Given the description of an element on the screen output the (x, y) to click on. 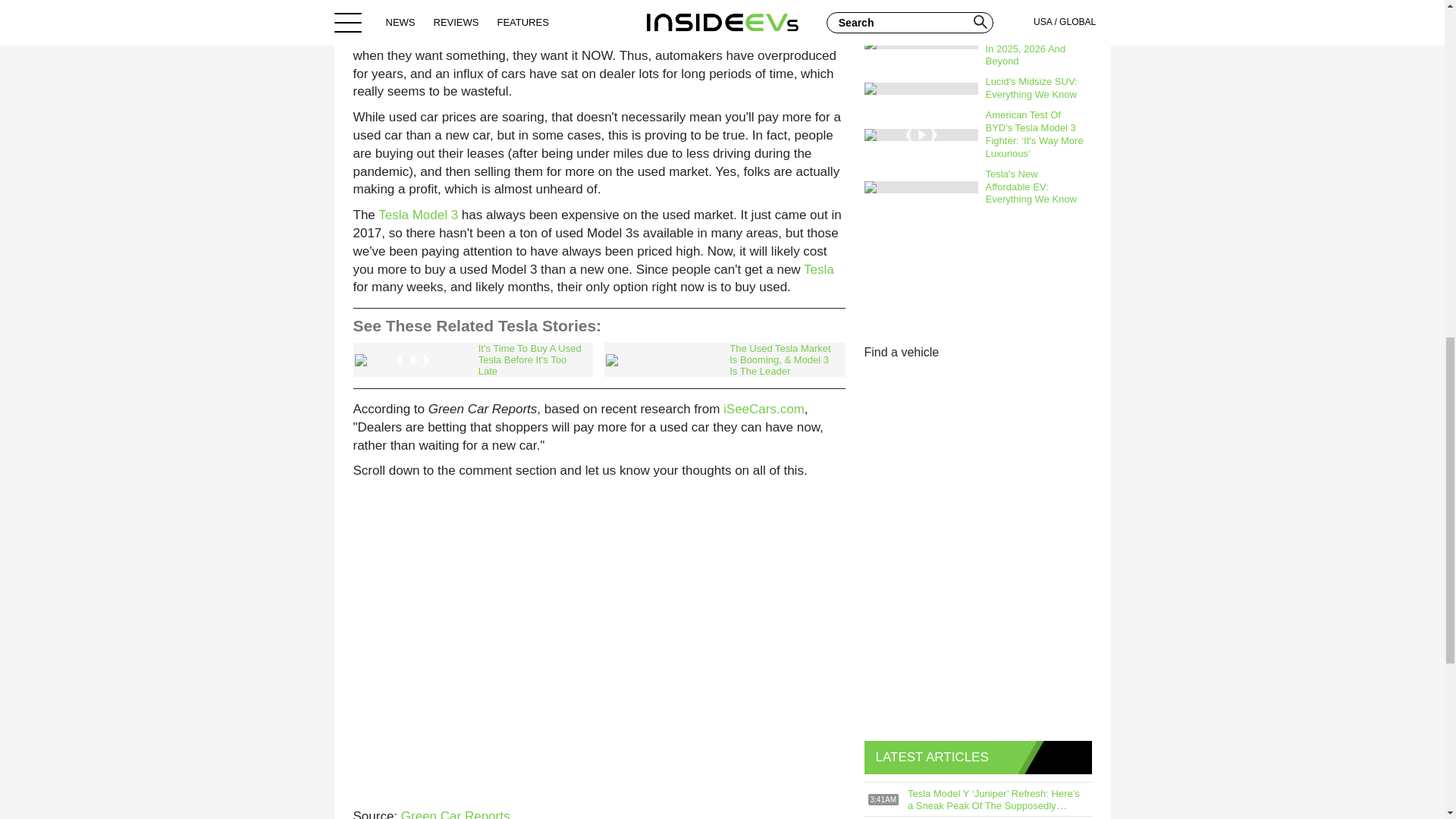
Green Car Reports (456, 814)
Tesla (818, 269)
iSeeCars.com (764, 409)
Tesla Model 3 (418, 214)
